Given the description of an element on the screen output the (x, y) to click on. 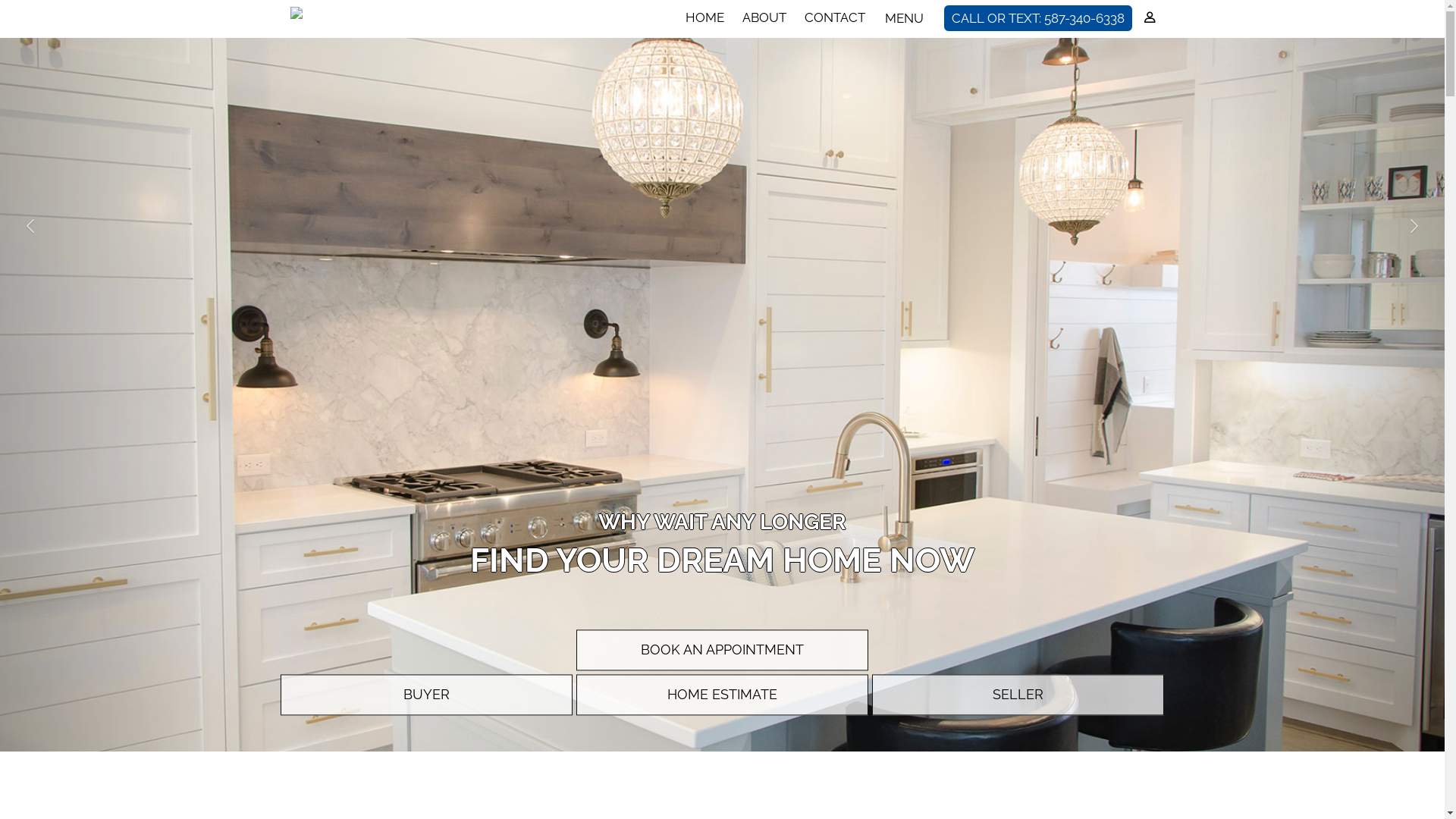
SELLER Element type: text (1018, 694)
587-340-6338 Element type: text (1083, 17)
HOME ESTIMATE Element type: text (722, 694)
MENU Element type: text (901, 18)
BUYER Element type: text (426, 694)
BOOK AN APPOINTMENT Element type: text (722, 649)
